Given the description of an element on the screen output the (x, y) to click on. 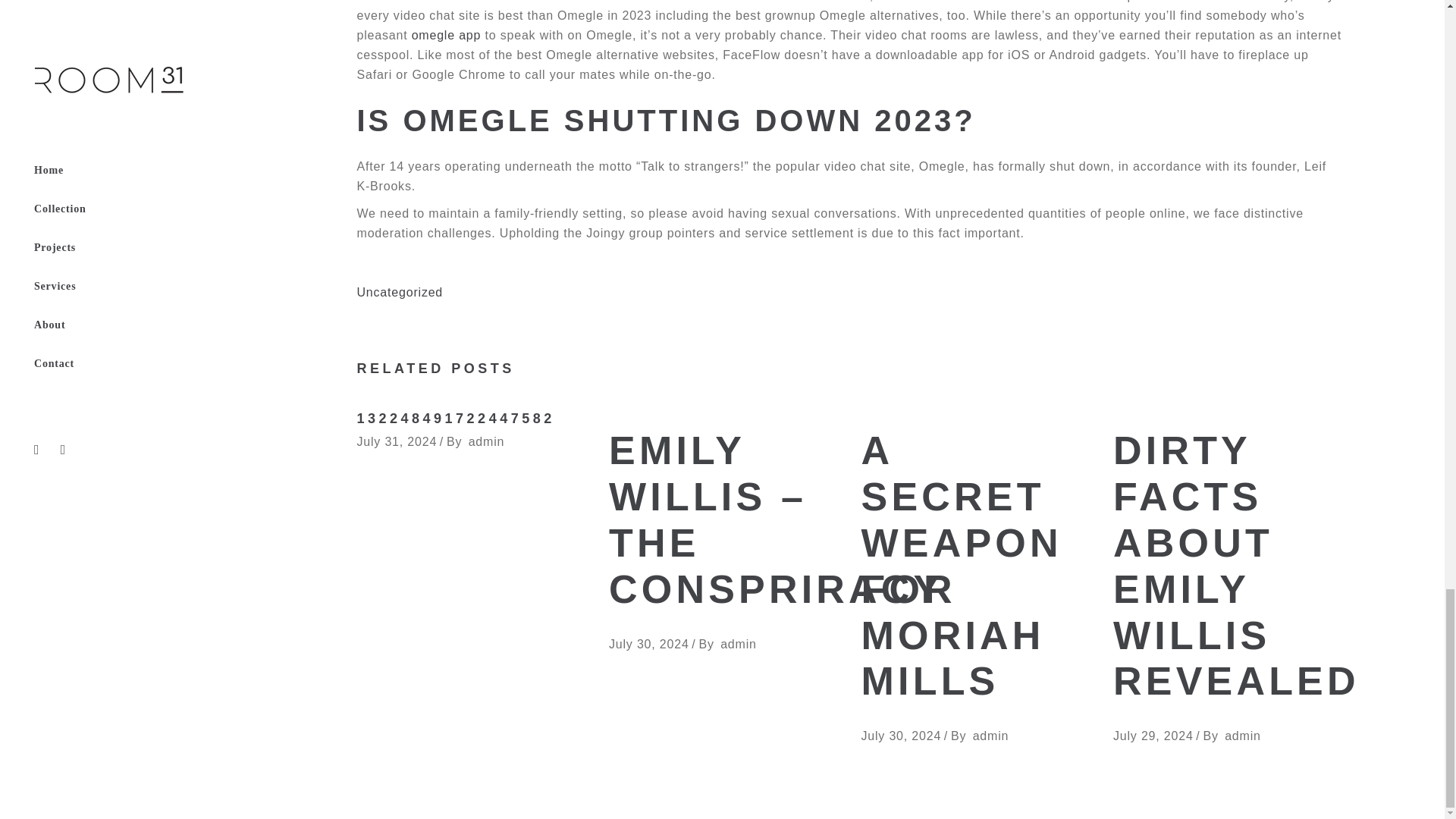
July 31, 2024 (396, 440)
admin (486, 440)
admin (738, 644)
132248491722447582 (455, 418)
omegle app (446, 34)
Uncategorized (399, 291)
132248491722447582 (455, 418)
admin (990, 735)
July 30, 2024 (901, 735)
July 30, 2024 (648, 644)
